Given the description of an element on the screen output the (x, y) to click on. 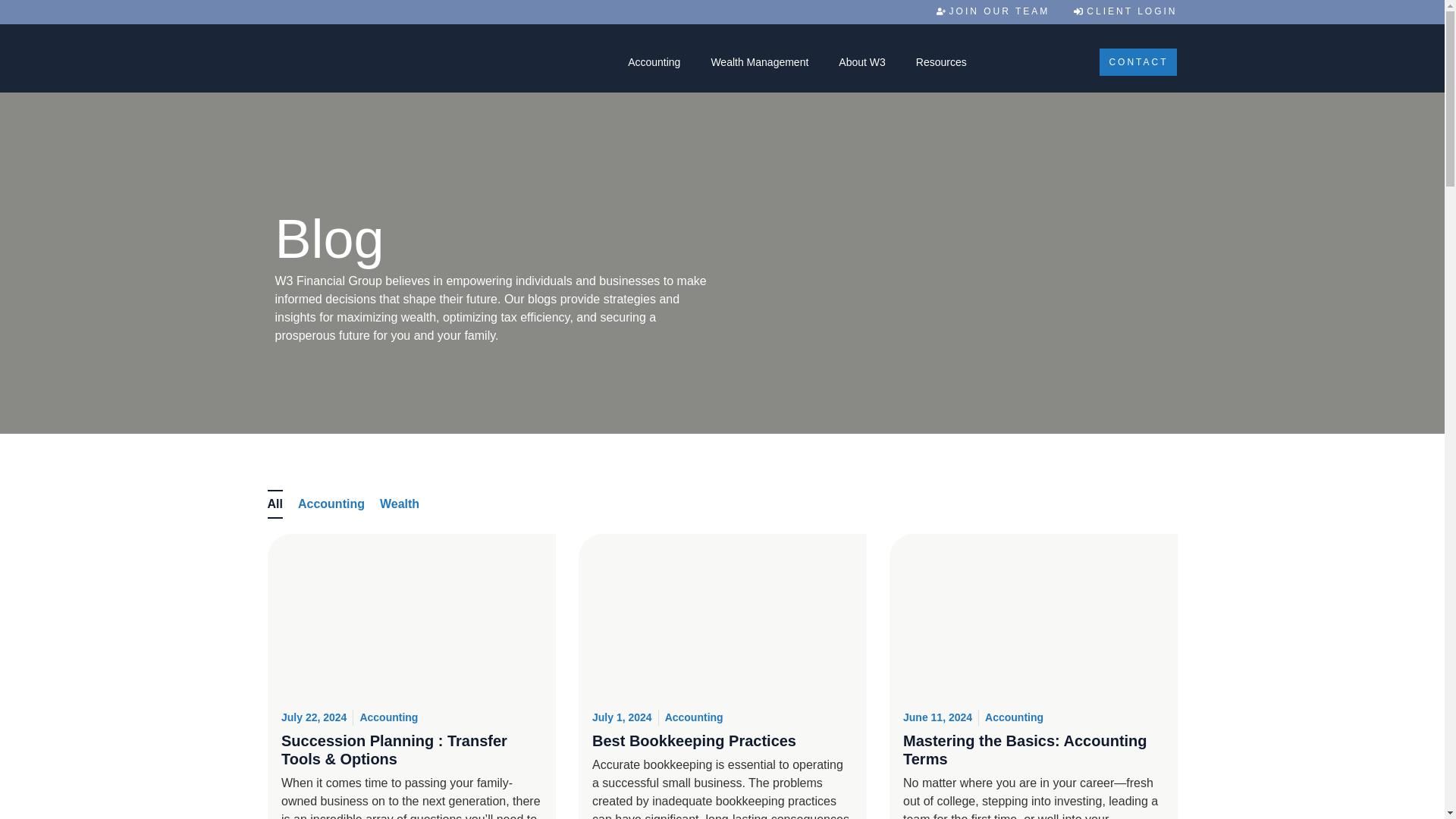
CLIENT LOGIN (1125, 11)
Resources (941, 62)
About W3 (861, 62)
Accounting (653, 62)
JOIN OUR TEAM (992, 11)
Wealth Management (759, 62)
